Given the description of an element on the screen output the (x, y) to click on. 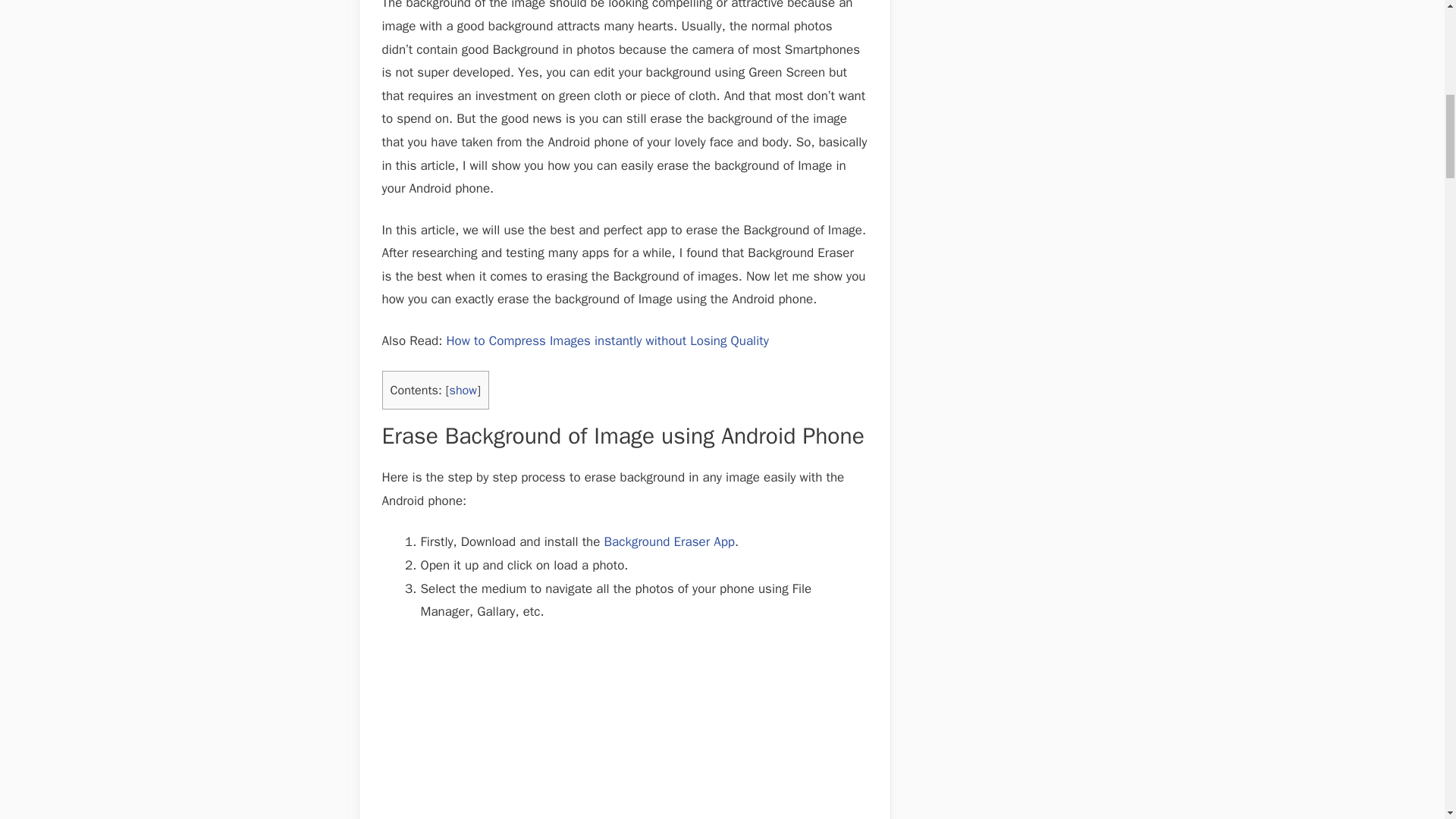
Background Eraser App (669, 541)
Scroll back to top (1406, 720)
How to Compress Images instantly without Losing Quality (606, 340)
show (463, 390)
